Given the description of an element on the screen output the (x, y) to click on. 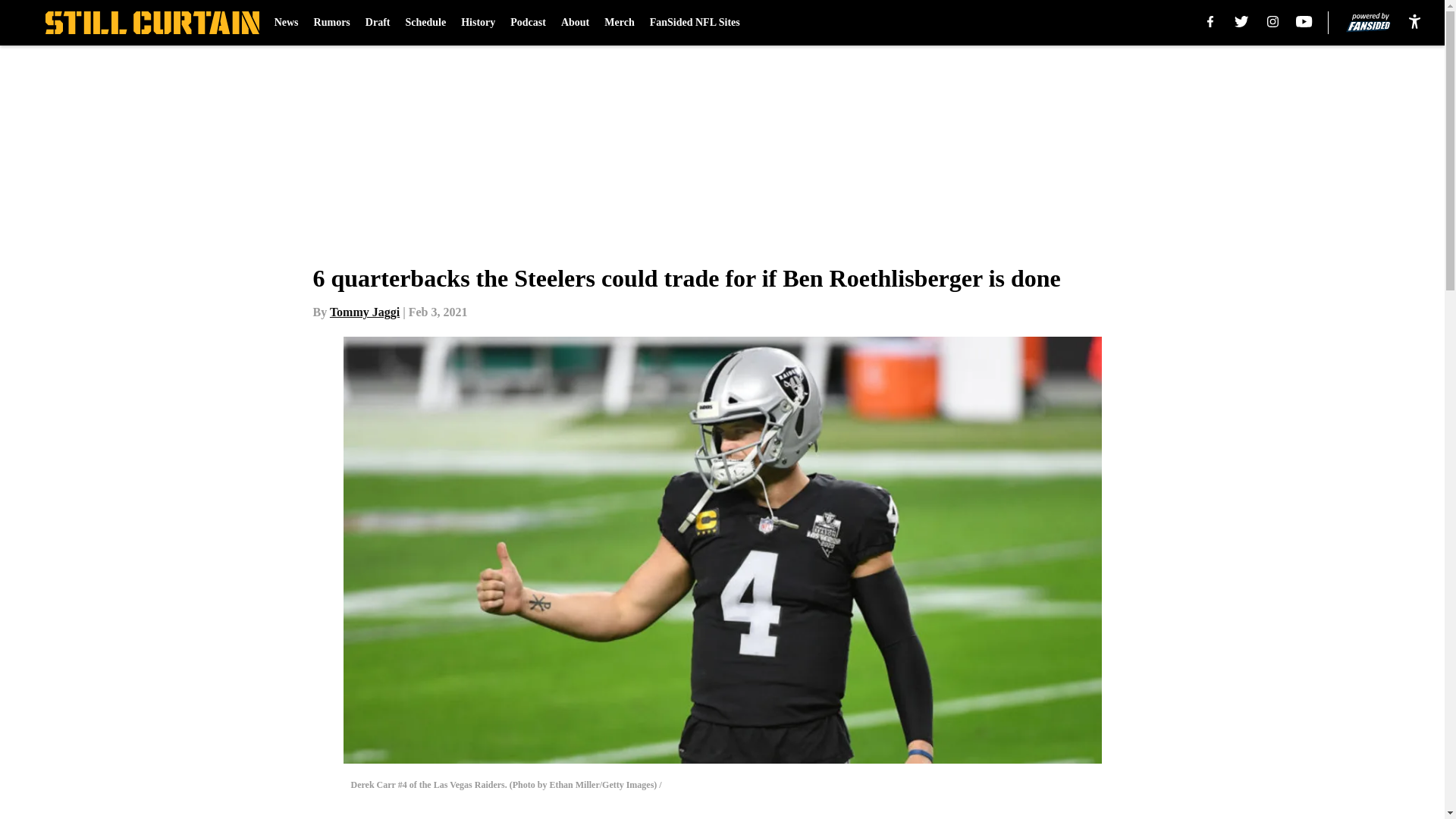
FanSided NFL Sites (694, 22)
Tommy Jaggi (364, 311)
Draft (377, 22)
Merch (618, 22)
About (574, 22)
Podcast (528, 22)
Schedule (424, 22)
History (478, 22)
Rumors (332, 22)
News (286, 22)
